Given the description of an element on the screen output the (x, y) to click on. 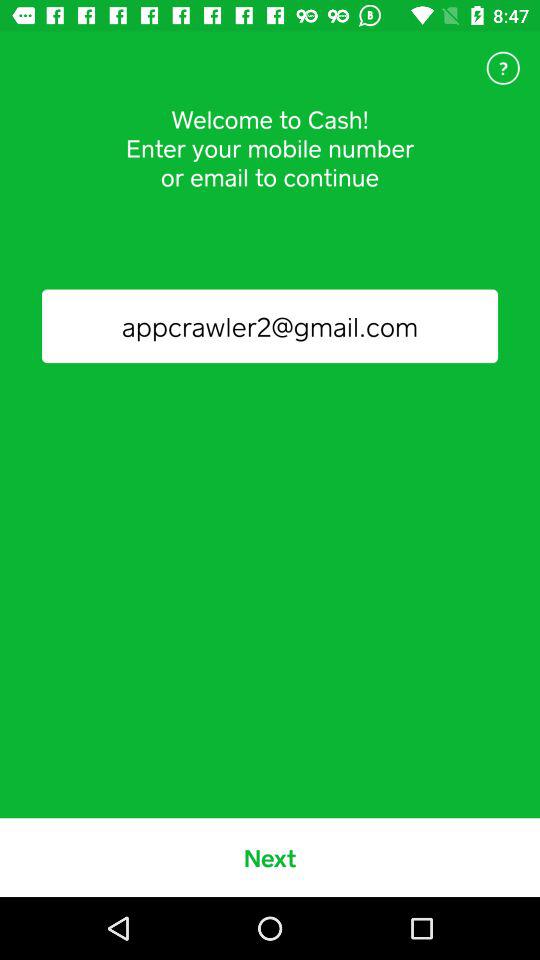
select the item above next icon (269, 326)
